Given the description of an element on the screen output the (x, y) to click on. 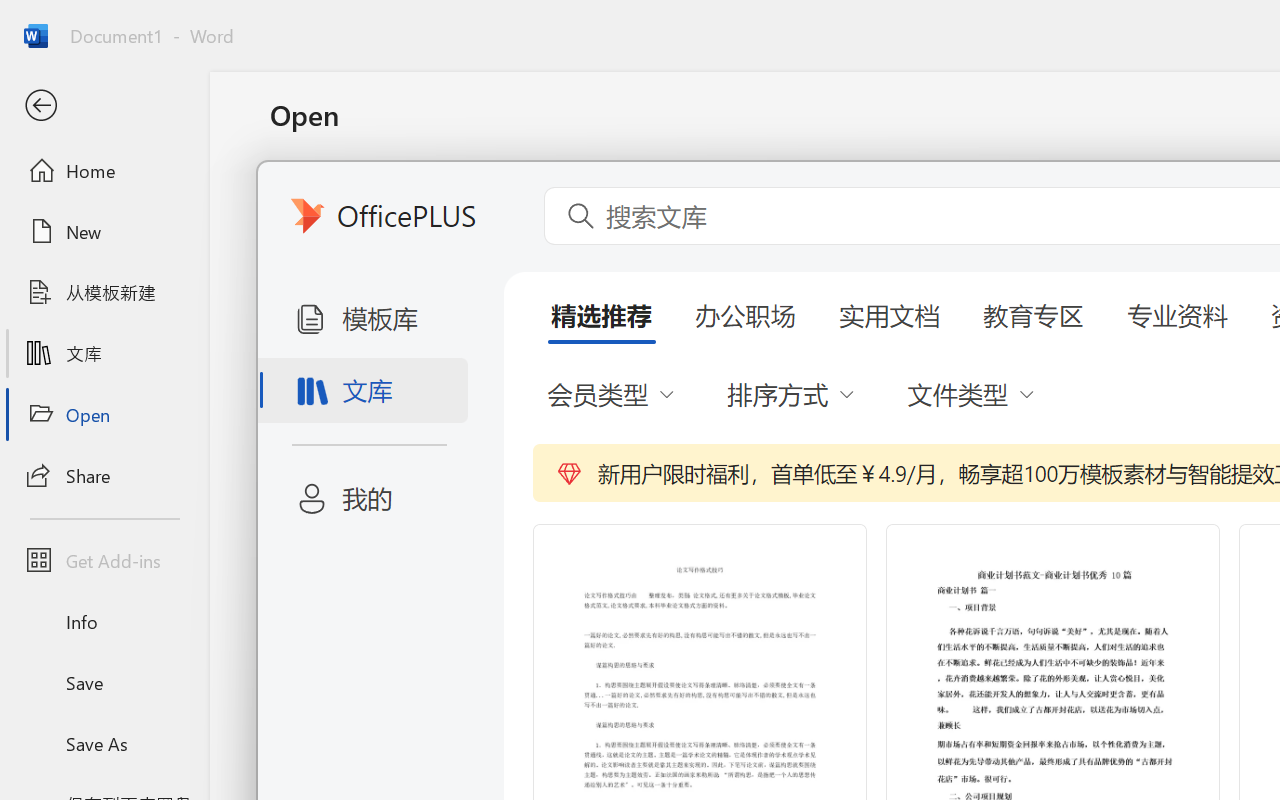
Get Add-ins (104, 560)
Info (104, 621)
